Given the description of an element on the screen output the (x, y) to click on. 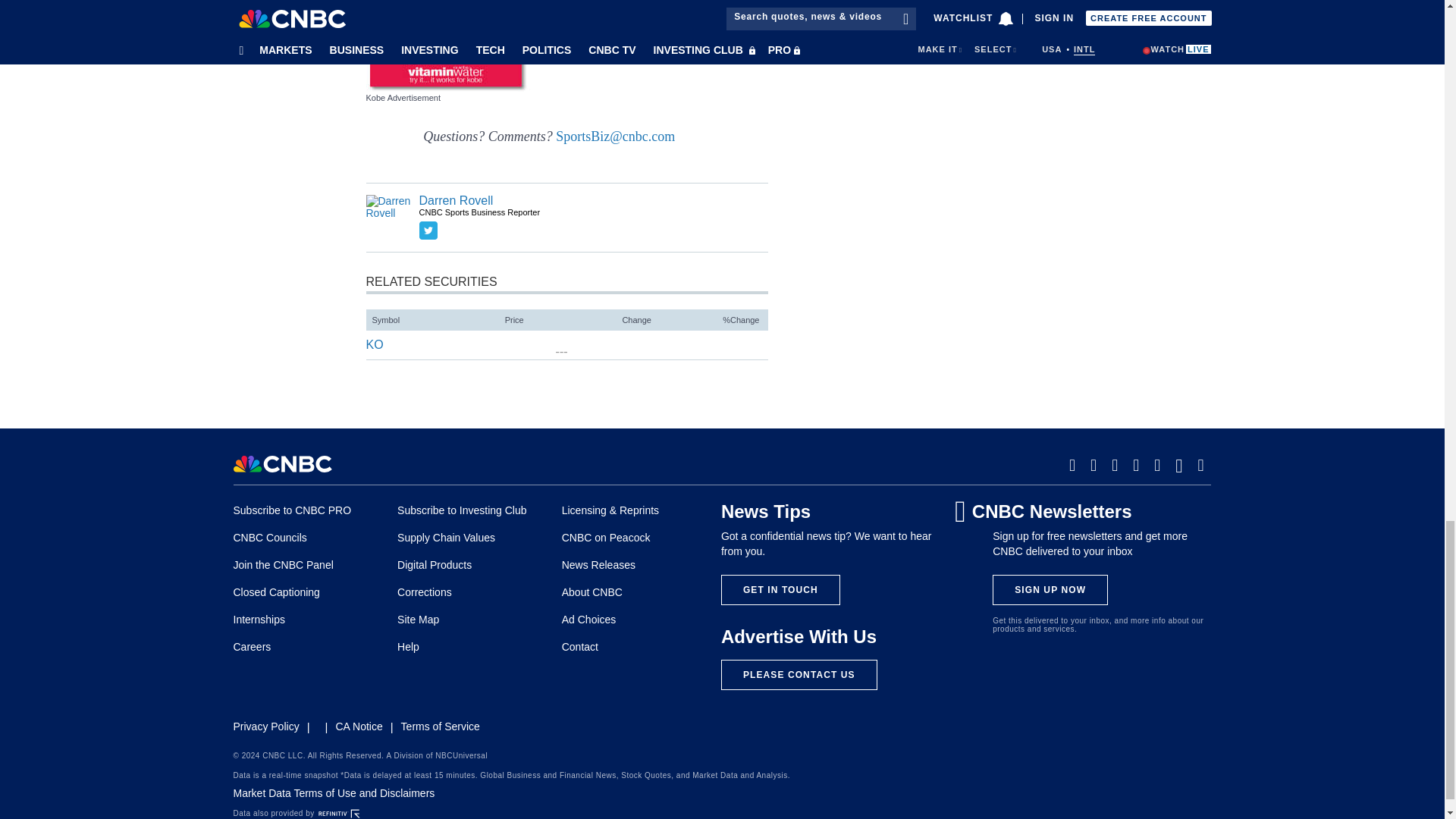
Darren Rovell (387, 217)
